Given the description of an element on the screen output the (x, y) to click on. 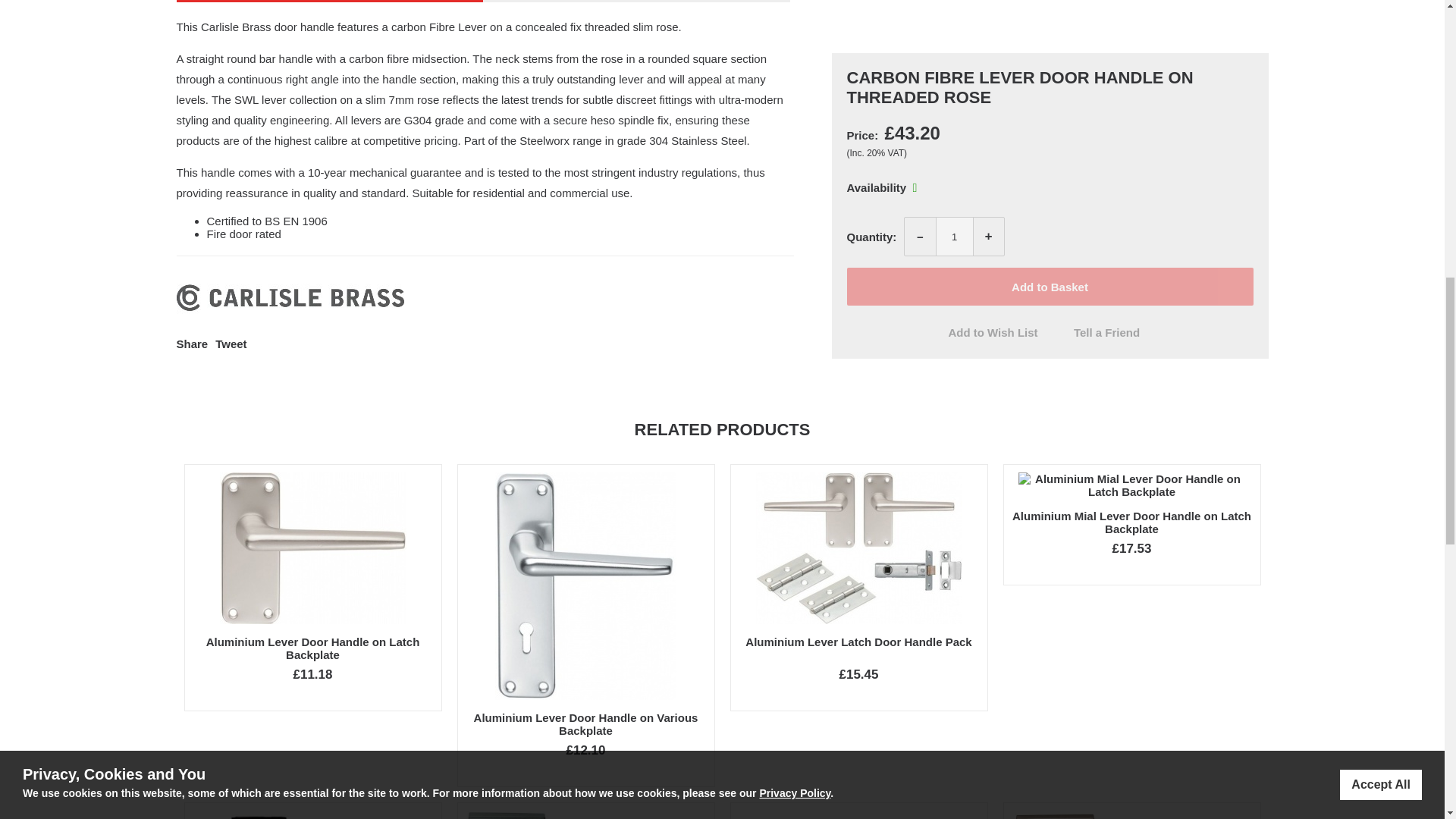
Share (192, 343)
Aluminium Lever Latch Door Handle Pack (858, 641)
Aluminium Lever Door Handle on Latch Backplate (313, 647)
Aluminium Mial Lever Door Handle on Latch Backplate (1130, 522)
Aluminium Lever Door Handle on Various Backplate (586, 724)
Tweet (230, 343)
